Given the description of an element on the screen output the (x, y) to click on. 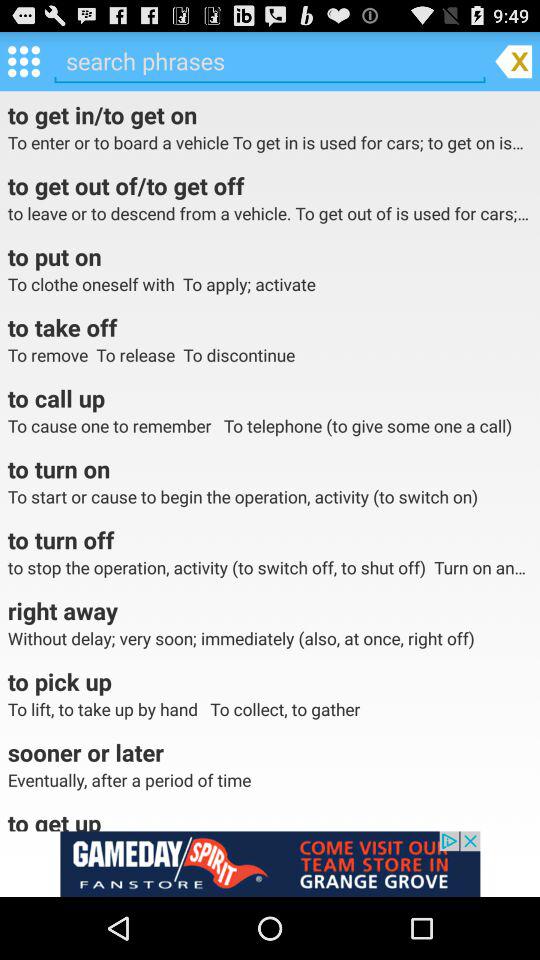
view advertisement (270, 864)
